Given the description of an element on the screen output the (x, y) to click on. 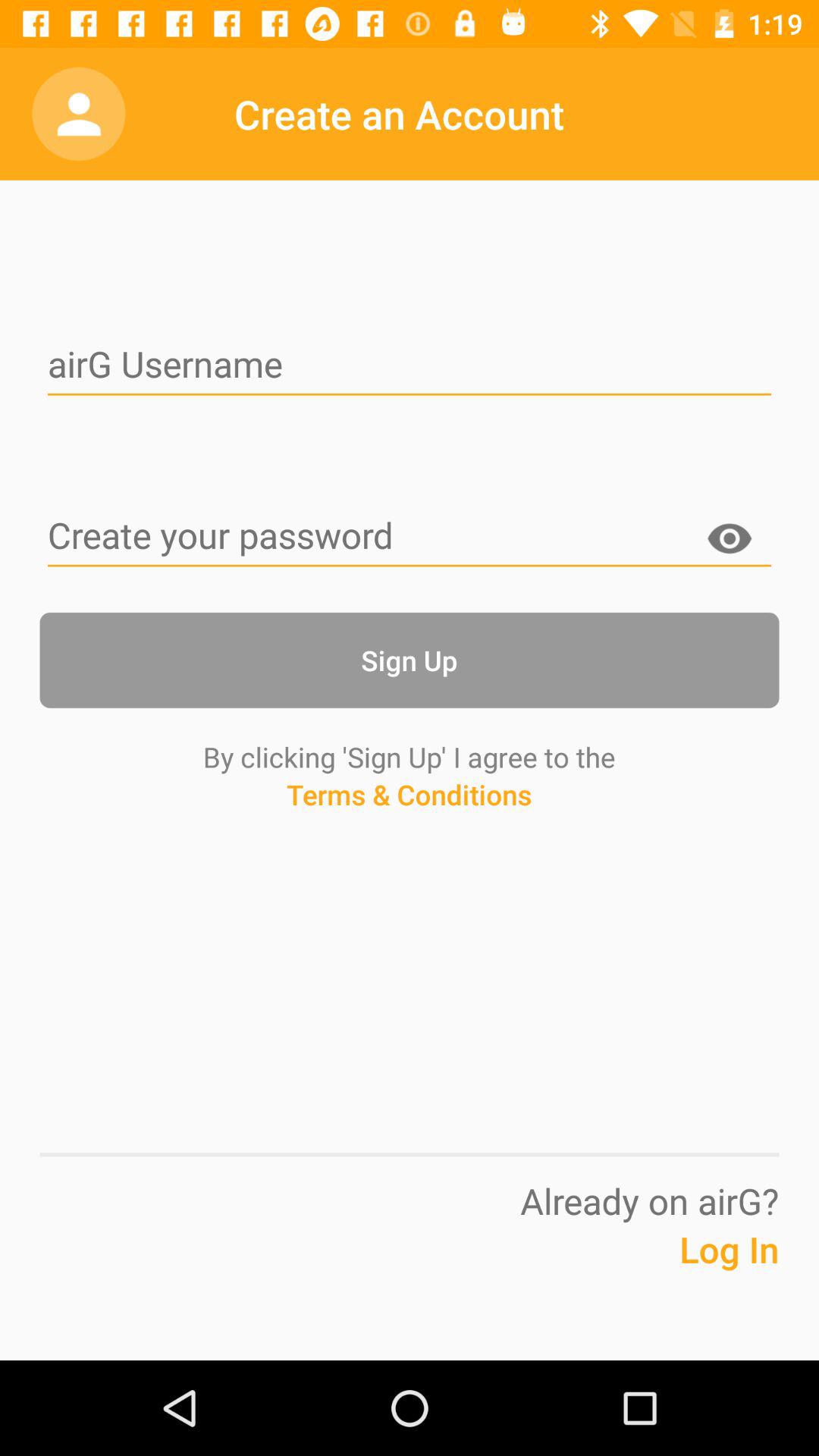
display password (729, 541)
